Given the description of an element on the screen output the (x, y) to click on. 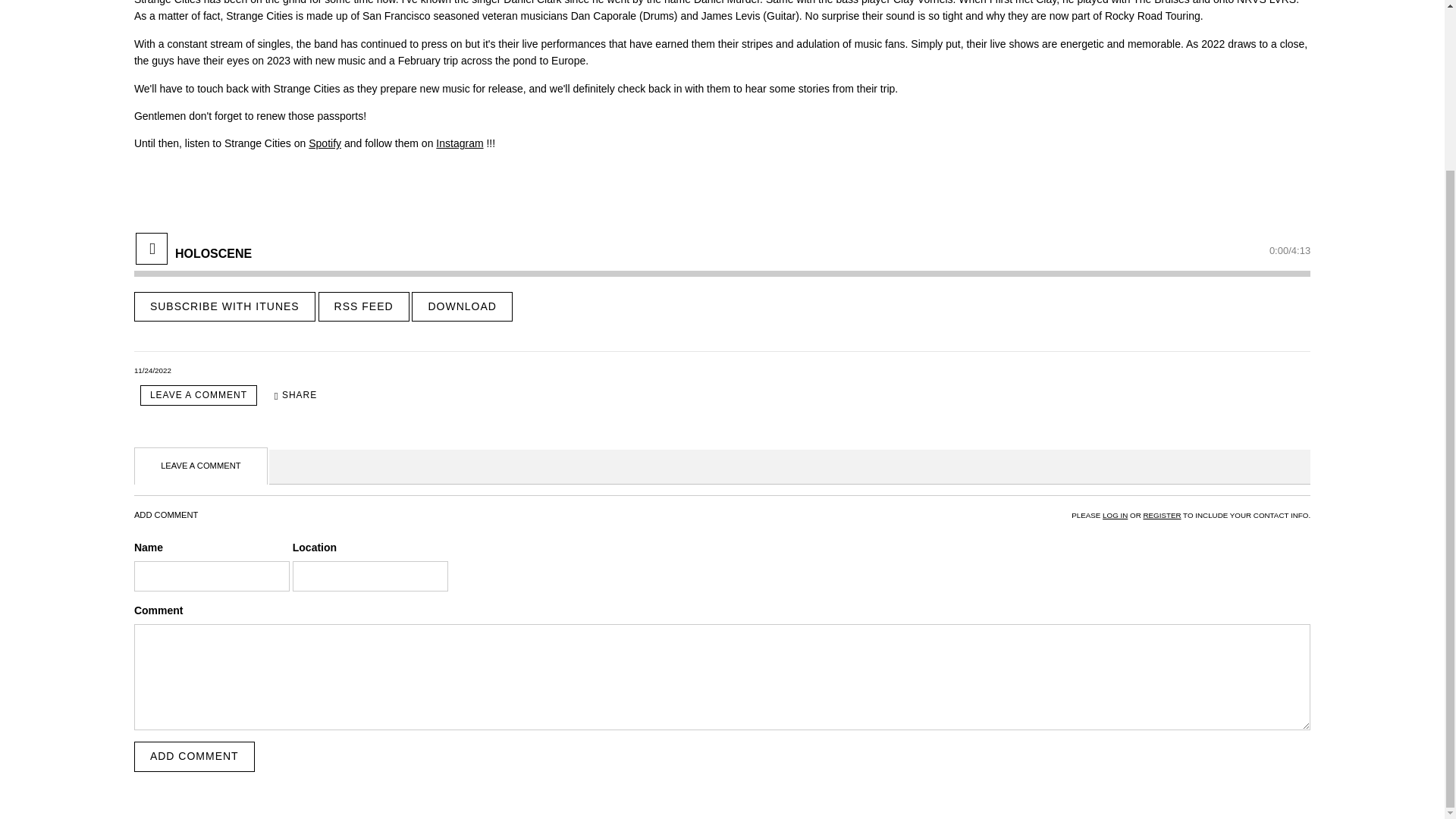
Leave a comment (198, 394)
November 24, 2022 12:39 (152, 370)
REGISTER (1161, 515)
SHARE (295, 394)
ADD COMMENT (193, 757)
LEAVE A COMMENT (198, 394)
RSS FEED (363, 306)
LOG IN (1114, 515)
SUBSCRIBE WITH ITUNES (224, 306)
Instagram (459, 143)
